Given the description of an element on the screen output the (x, y) to click on. 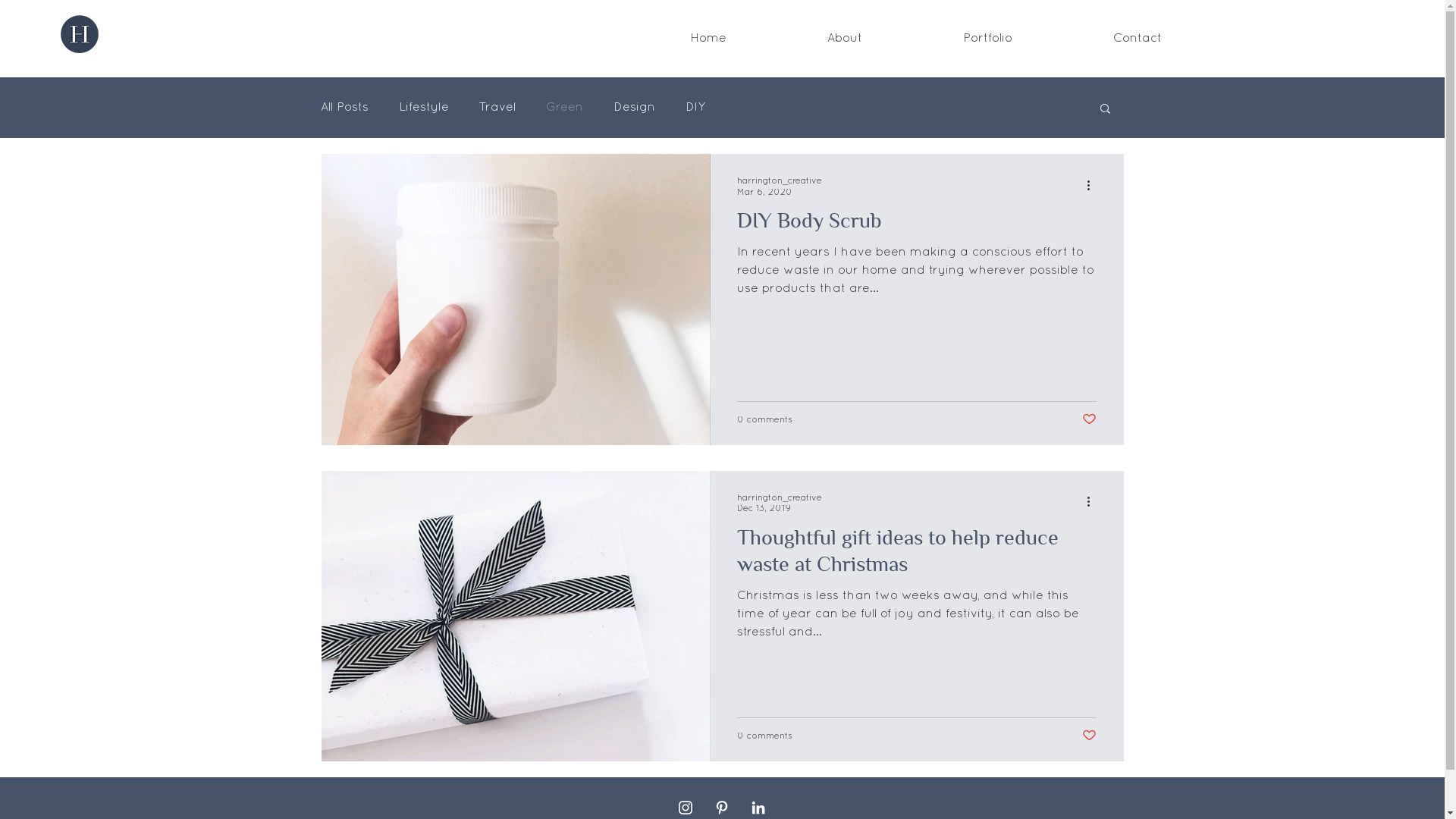
Design Element type: text (633, 107)
Green Element type: text (564, 107)
DIY Body Scrub Element type: text (916, 225)
Home Element type: text (708, 38)
Travel Element type: text (497, 107)
About Element type: text (844, 38)
Post not marked as liked Element type: text (1088, 736)
DIY Element type: text (695, 107)
0 comments Element type: text (764, 736)
Lifestyle Element type: text (423, 107)
0 comments Element type: text (764, 419)
Post not marked as liked Element type: text (1088, 419)
Thoughtful gift ideas to help reduce waste at Christmas Element type: text (916, 554)
All Posts Element type: text (343, 107)
Portfolio Element type: text (988, 38)
Contact Element type: text (1137, 38)
